Given the description of an element on the screen output the (x, y) to click on. 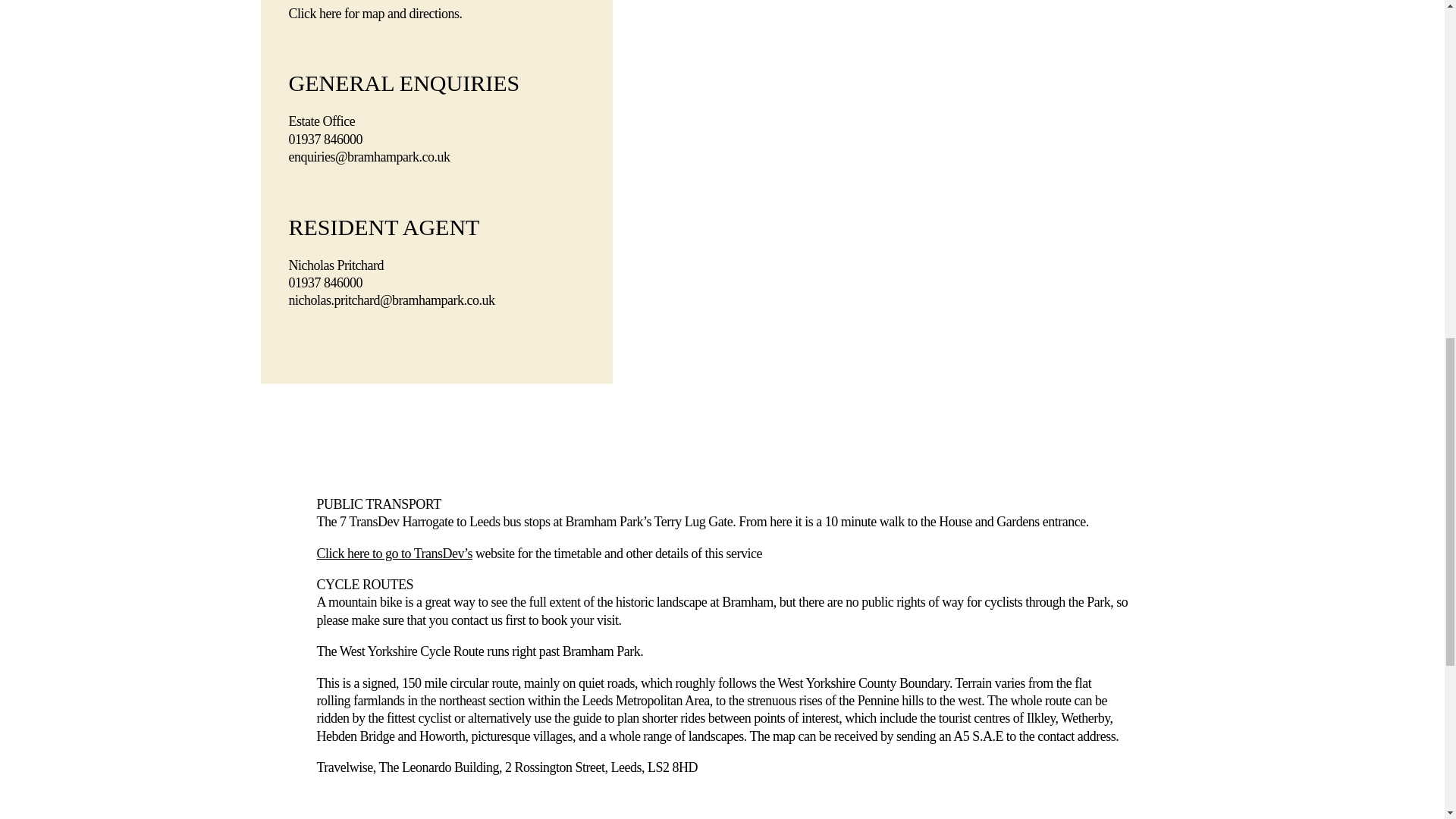
Click here for map and directions. (374, 13)
01937 846000 (325, 139)
01937 846000 (325, 282)
